Given the description of an element on the screen output the (x, y) to click on. 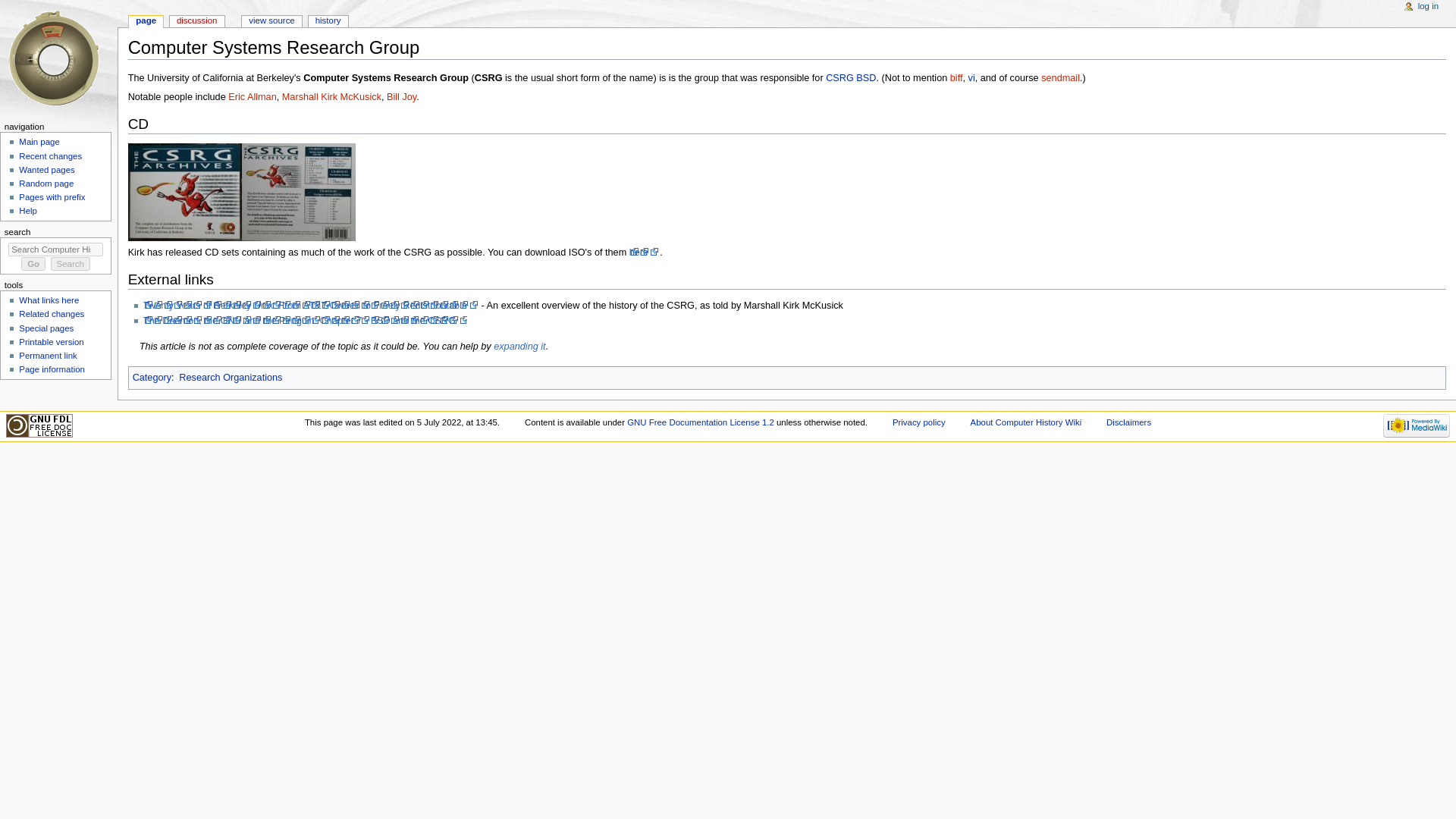
page (146, 21)
CSRG BSD (850, 77)
Go (33, 264)
discussion (197, 21)
Help (27, 210)
Permanent link (47, 355)
biff (956, 77)
expanding it (518, 346)
Category (151, 377)
here (643, 252)
Wanted pages (46, 169)
Search (70, 264)
Bill Joy (401, 96)
Pages with prefix (51, 196)
